Given the description of an element on the screen output the (x, y) to click on. 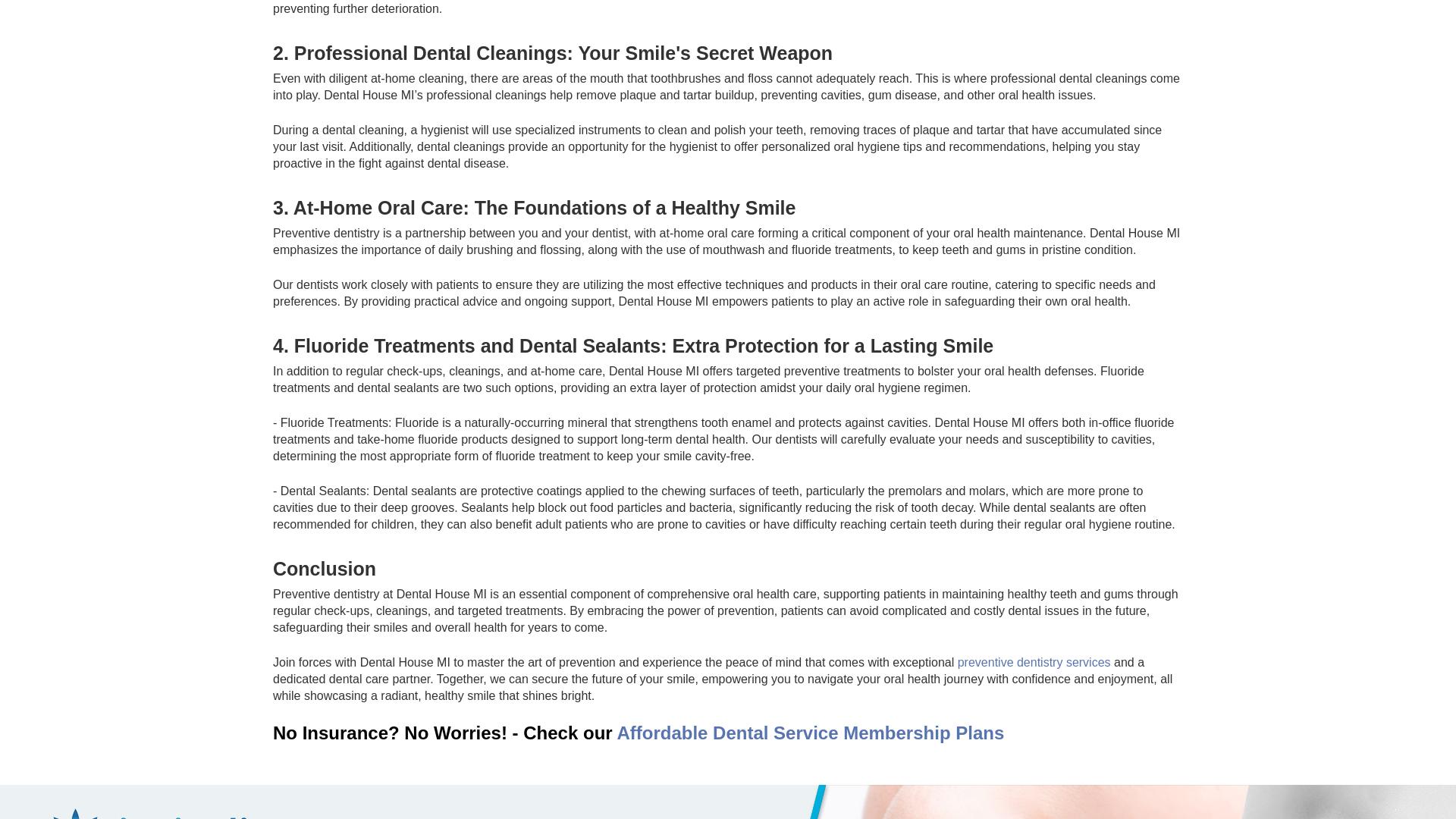
Affordable Dental Service Membership Plans (809, 732)
